Given the description of an element on the screen output the (x, y) to click on. 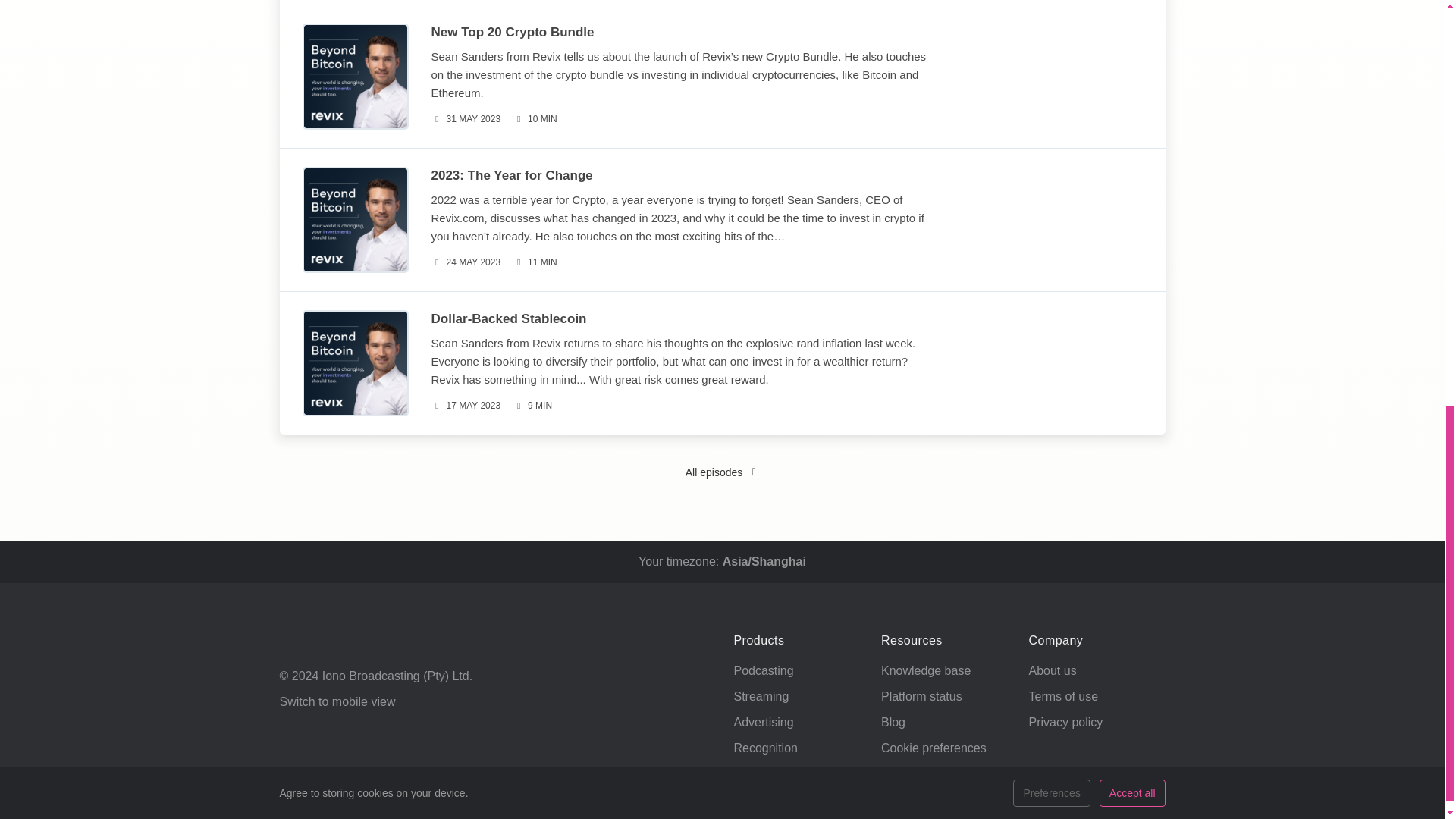
Published (465, 406)
Duration (534, 262)
Duration (534, 119)
Published (465, 119)
Published (465, 262)
Duration (531, 406)
